Given the description of an element on the screen output the (x, y) to click on. 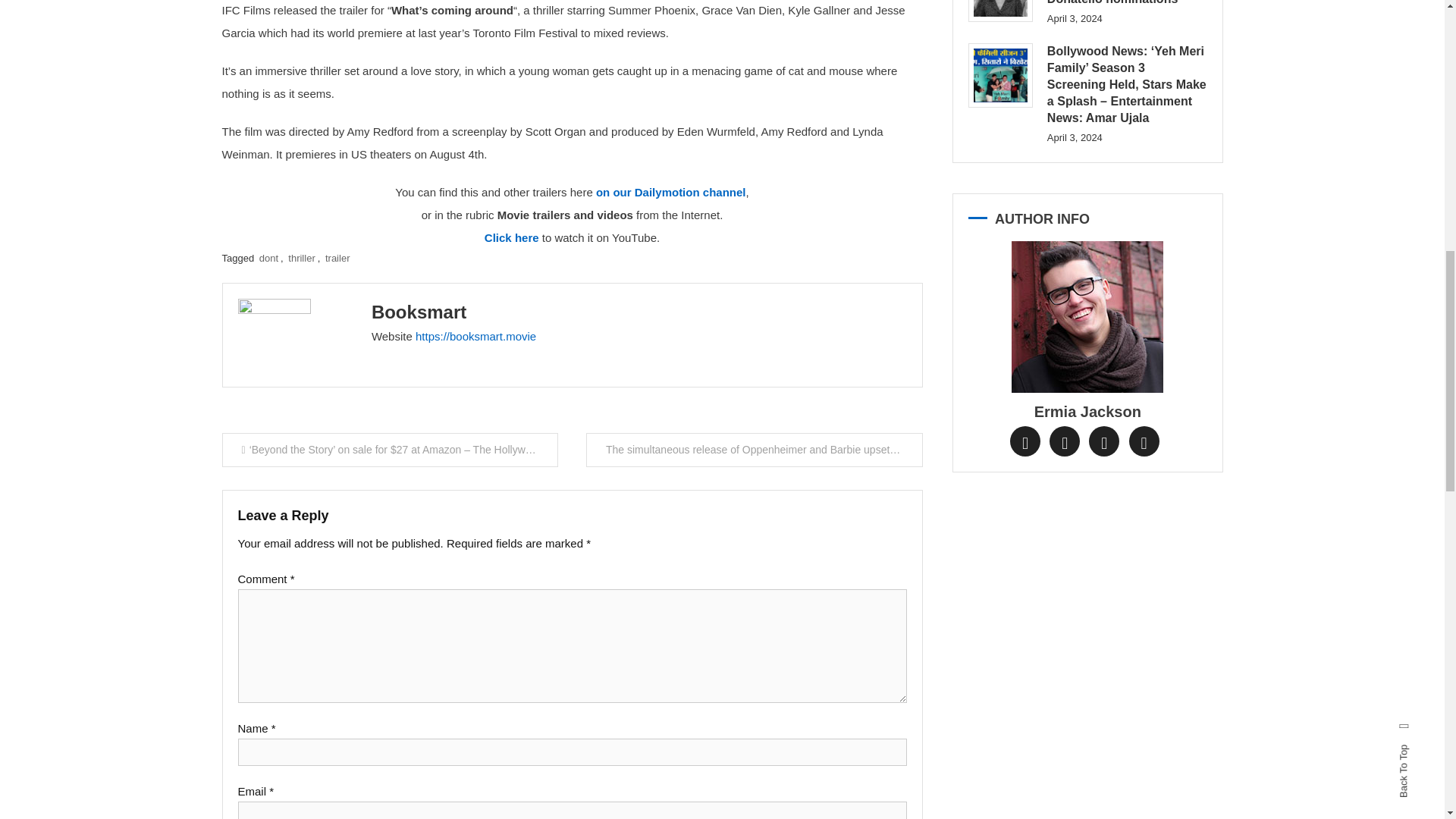
Posts by booksmart (418, 312)
